Given the description of an element on the screen output the (x, y) to click on. 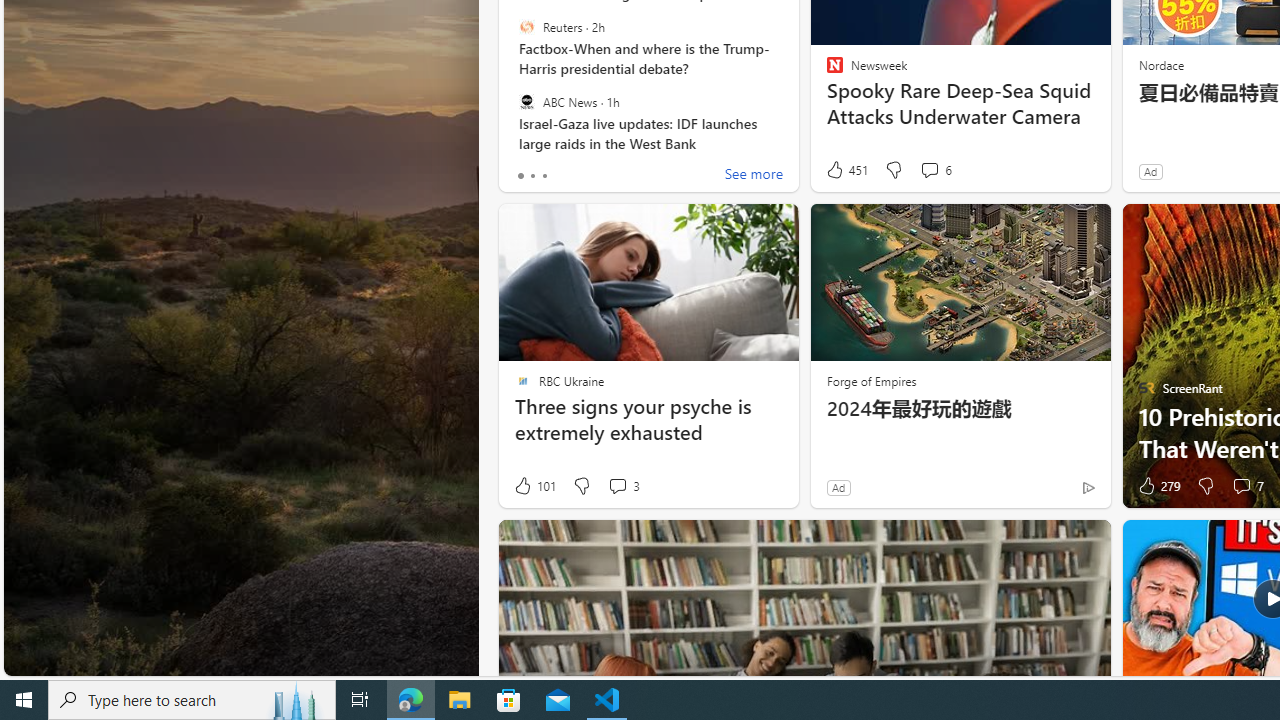
Dislike (1204, 485)
View comments 6 Comment (929, 169)
Reuters (526, 27)
ABC News (526, 101)
101 Like (534, 485)
tab-0 (520, 175)
View comments 7 Comment (1241, 485)
tab-2 (543, 175)
